Given the description of an element on the screen output the (x, y) to click on. 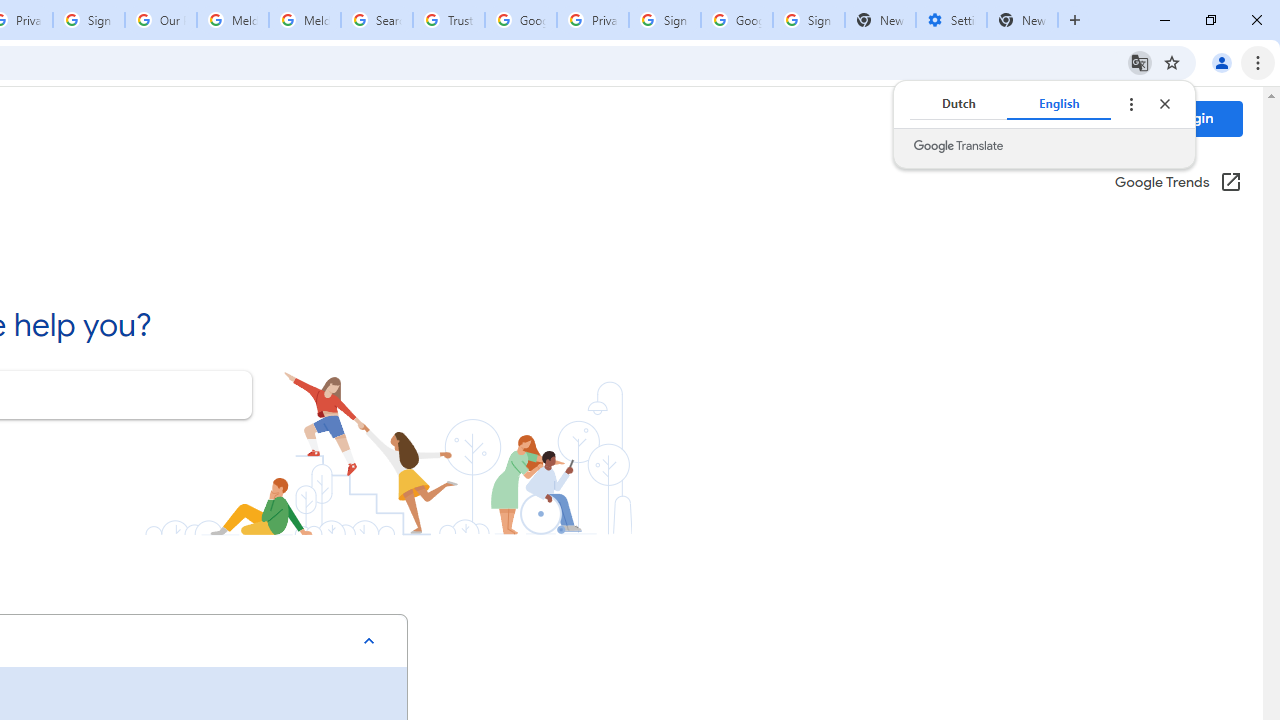
Translate options (1130, 103)
Translate this page (1139, 62)
New Tab (1022, 20)
Trusted Information and Content - Google Safety Center (449, 20)
Login (1194, 118)
Sign in - Google Accounts (88, 20)
Google Trends (Opens in new window) (1177, 183)
Google Ads - Sign in (520, 20)
